Given the description of an element on the screen output the (x, y) to click on. 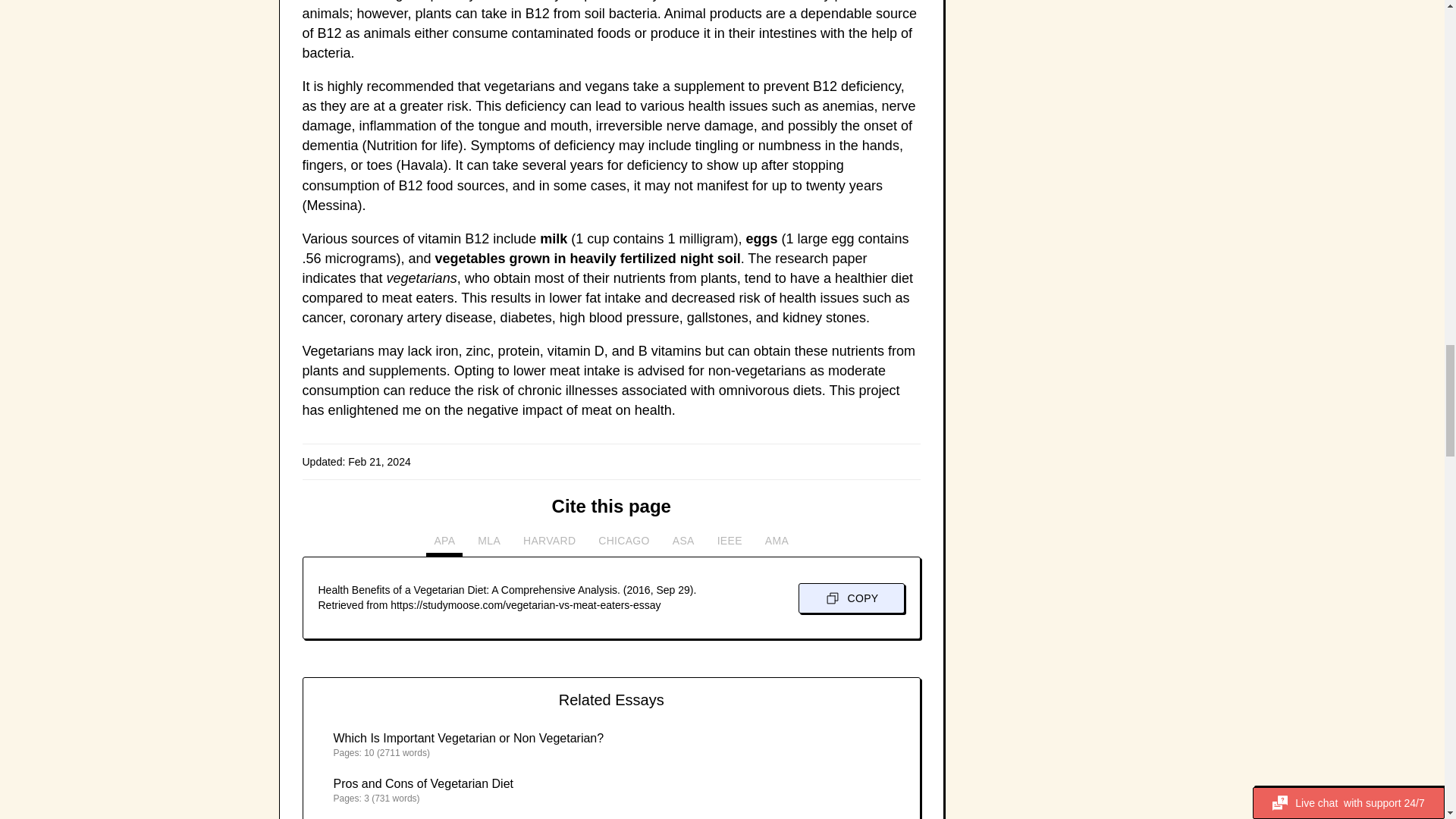
HARVARD (549, 544)
APA (444, 544)
MLA (489, 544)
